Given the description of an element on the screen output the (x, y) to click on. 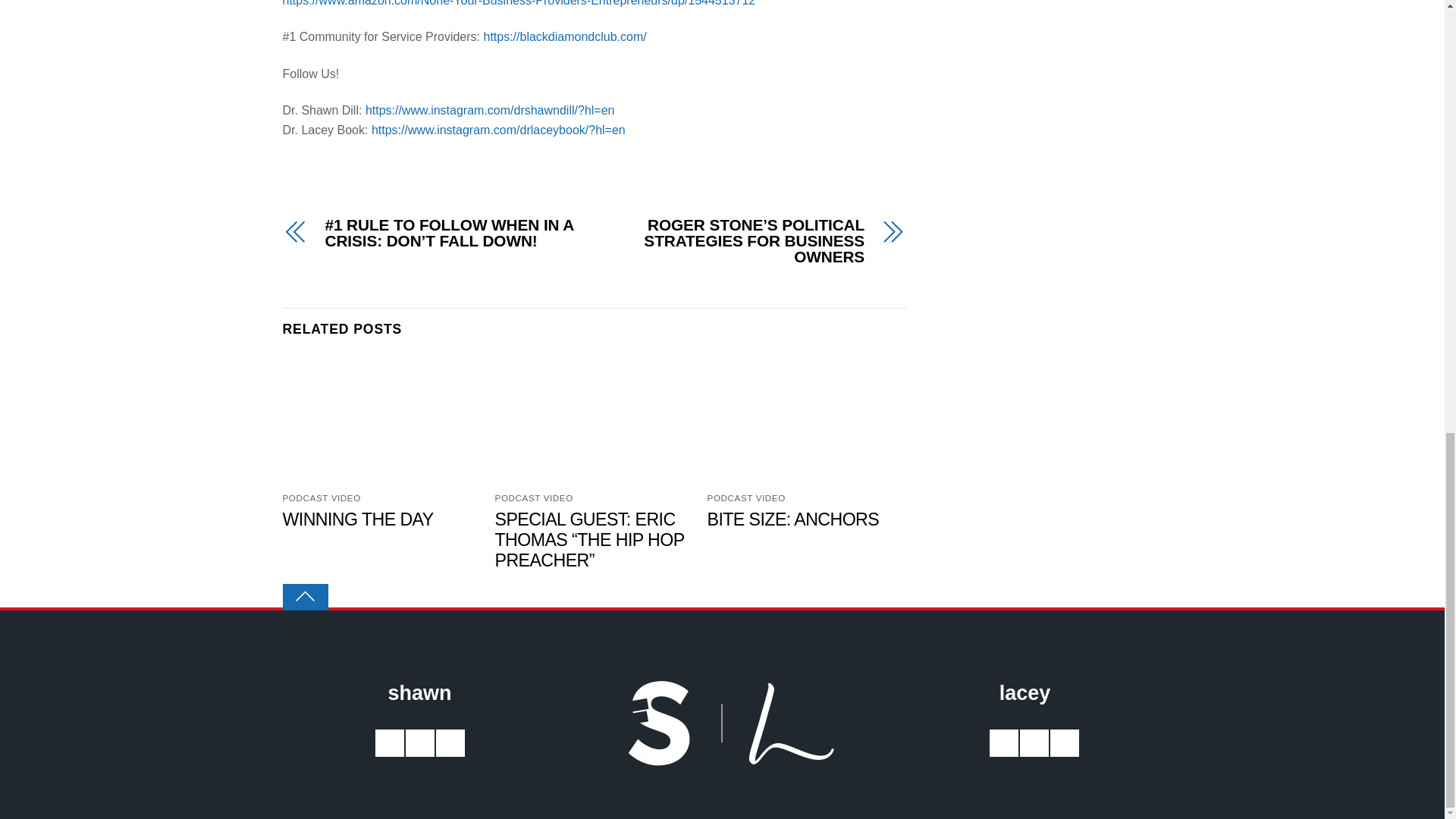
PODCAST VIDEO (320, 497)
PODCAST VIDEO (534, 497)
WINNING THE DAY (357, 519)
BITE SIZE: ANCHORS (793, 519)
BITE SIZE: ANCHORS (793, 519)
PODCAST VIDEO (746, 497)
WINNING THE DAY (357, 519)
